Given the description of an element on the screen output the (x, y) to click on. 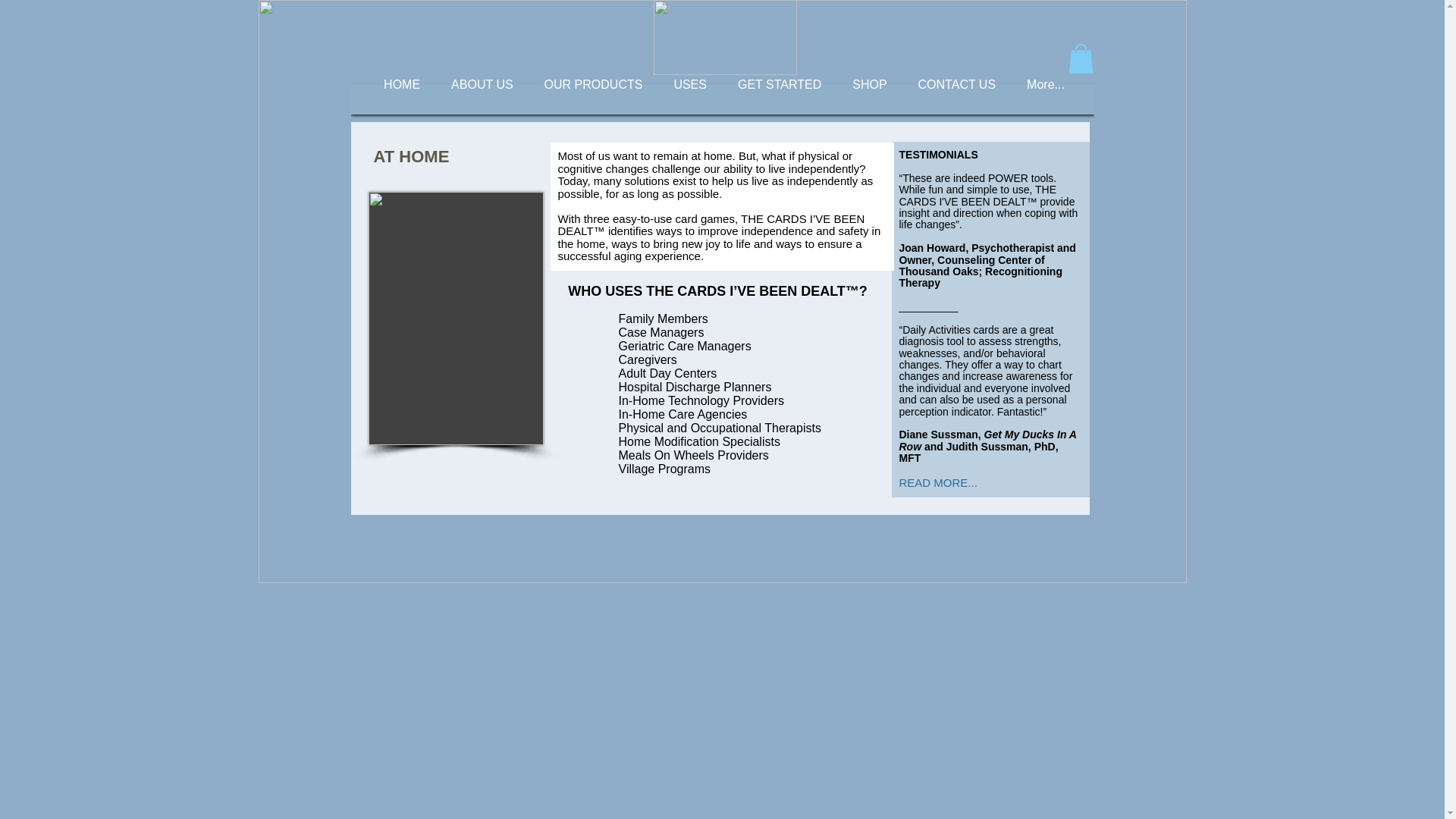
READ MORE... (937, 481)
ABOUT US (482, 99)
HOME (401, 99)
CONTACT US (957, 99)
SHOP (868, 99)
